Given the description of an element on the screen output the (x, y) to click on. 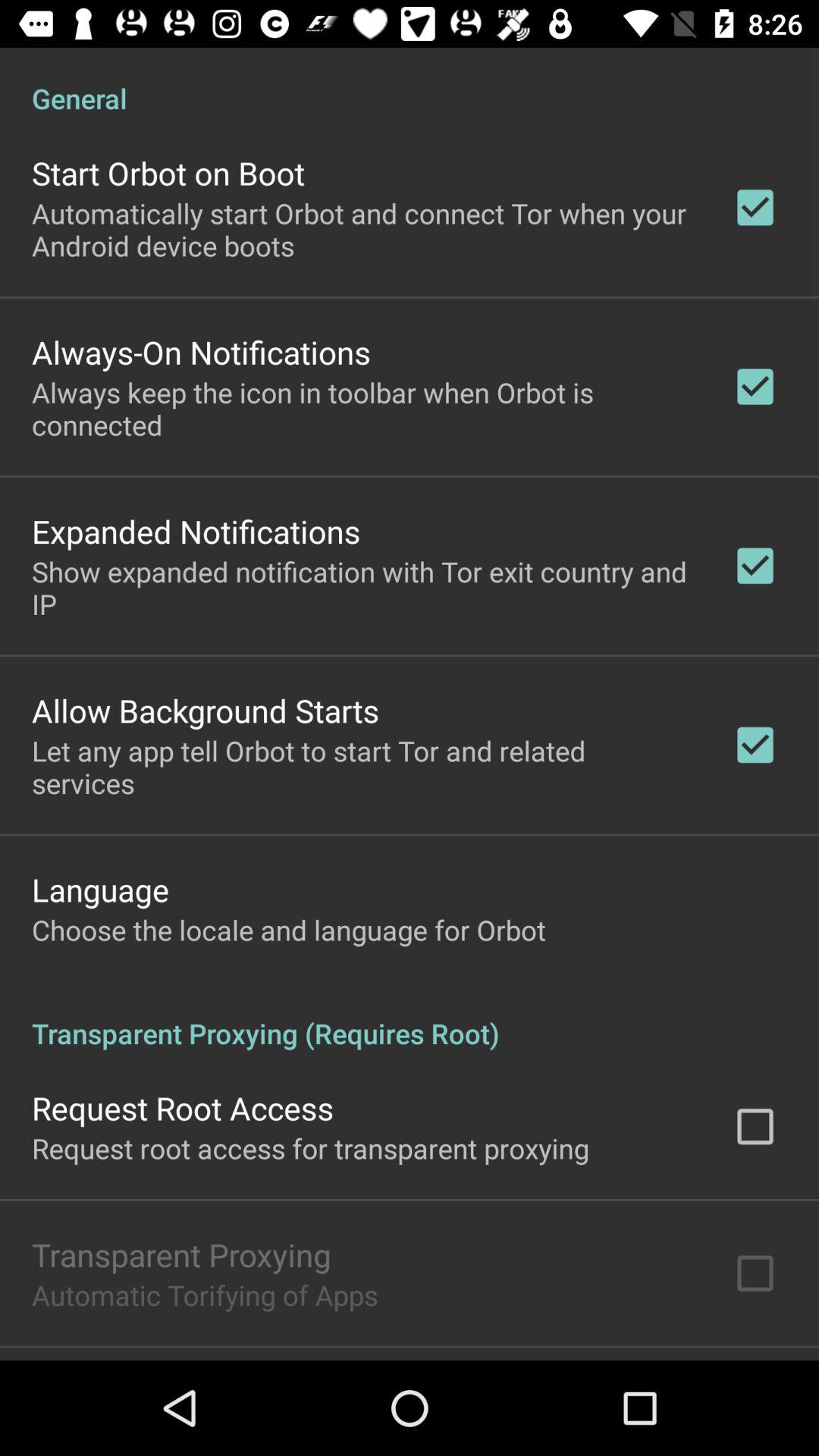
choose icon above always keep the icon (200, 351)
